Given the description of an element on the screen output the (x, y) to click on. 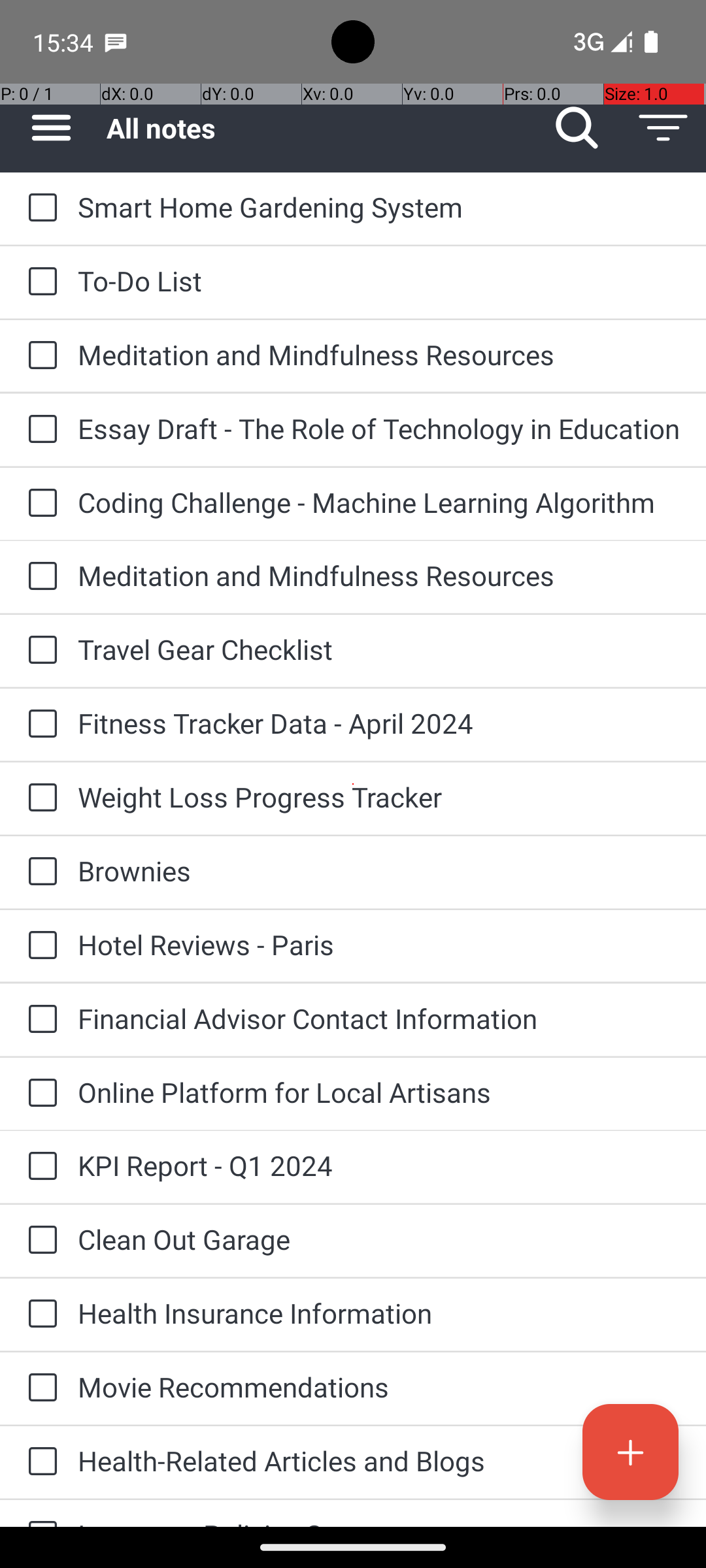
Sidebar Element type: android.widget.Button (44, 127)
All notes Element type: android.widget.TextView (320, 127)
Sort notes by Element type: android.widget.Button (663, 127)
Add new, collapsed Element type: android.widget.Button (630, 1452)
 Element type: android.widget.TextView (51, 127)
 Element type: android.widget.TextView (576, 127)
 Element type: android.widget.TextView (663, 127)
 Element type: android.widget.TextView (630, 1451)
to-do: Smart Home Gardening System Element type: android.widget.CheckBox (38, 208)
Smart Home Gardening System Element type: android.widget.TextView (378, 206)
to-do: To-Do List Element type: android.widget.CheckBox (38, 282)
To-Do List Element type: android.widget.TextView (378, 280)
to-do: Meditation and Mindfulness Resources Element type: android.widget.CheckBox (38, 356)
Meditation and Mindfulness Resources Element type: android.widget.TextView (378, 354)
to-do: Essay Draft - The Role of Technology in Education Element type: android.widget.CheckBox (38, 429)
Essay Draft - The Role of Technology in Education Element type: android.widget.TextView (378, 427)
to-do: Coding Challenge - Machine Learning Algorithm Element type: android.widget.CheckBox (38, 503)
Coding Challenge - Machine Learning Algorithm Element type: android.widget.TextView (378, 501)
to-do: Travel Gear Checklist Element type: android.widget.CheckBox (38, 650)
Travel Gear Checklist Element type: android.widget.TextView (378, 648)
to-do: Fitness Tracker Data - April 2024 Element type: android.widget.CheckBox (38, 724)
Fitness Tracker Data - April 2024 Element type: android.widget.TextView (378, 722)
to-do: Weight Loss Progress Tracker Element type: android.widget.CheckBox (38, 798)
Weight Loss Progress Tracker Element type: android.widget.TextView (378, 796)
to-do: Brownies Element type: android.widget.CheckBox (38, 872)
Brownies Element type: android.widget.TextView (378, 870)
to-do: Hotel Reviews - Paris Element type: android.widget.CheckBox (38, 945)
Hotel Reviews - Paris Element type: android.widget.TextView (378, 944)
to-do: Financial Advisor Contact Information Element type: android.widget.CheckBox (38, 1019)
Financial Advisor Contact Information Element type: android.widget.TextView (378, 1017)
to-do: Online Platform for Local Artisans Element type: android.widget.CheckBox (38, 1093)
Online Platform for Local Artisans Element type: android.widget.TextView (378, 1091)
to-do: KPI Report - Q1 2024 Element type: android.widget.CheckBox (38, 1166)
KPI Report - Q1 2024 Element type: android.widget.TextView (378, 1164)
to-do: Clean Out Garage Element type: android.widget.CheckBox (38, 1240)
Clean Out Garage Element type: android.widget.TextView (378, 1238)
to-do: Health Insurance Information Element type: android.widget.CheckBox (38, 1314)
Health Insurance Information Element type: android.widget.TextView (378, 1312)
to-do: Movie Recommendations Element type: android.widget.CheckBox (38, 1388)
Movie Recommendations Element type: android.widget.TextView (378, 1386)
to-do: Health-Related Articles and Blogs Element type: android.widget.CheckBox (38, 1462)
Health-Related Articles and Blogs Element type: android.widget.TextView (378, 1460)
to-do: Insurance Policies Summary Element type: android.widget.CheckBox (38, 1513)
Insurance Policies Summary Element type: android.widget.TextView (378, 1520)
 Element type: android.widget.TextView (42, 208)
SMS Messenger notification: +10214033213 Element type: android.widget.ImageView (115, 41)
